Given the description of an element on the screen output the (x, y) to click on. 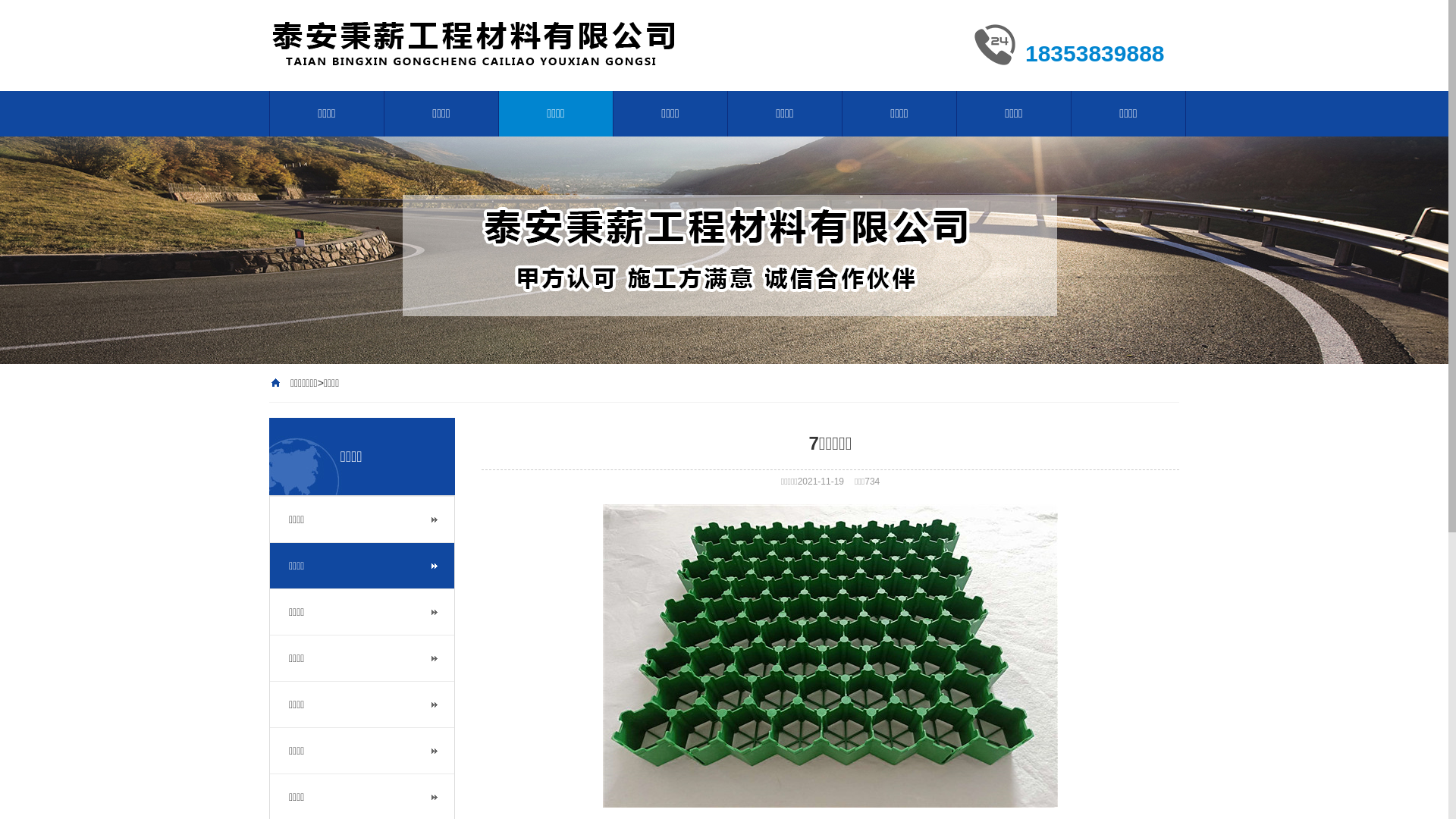
1637914510147739.jpg Element type: hover (829, 655)
